Given the description of an element on the screen output the (x, y) to click on. 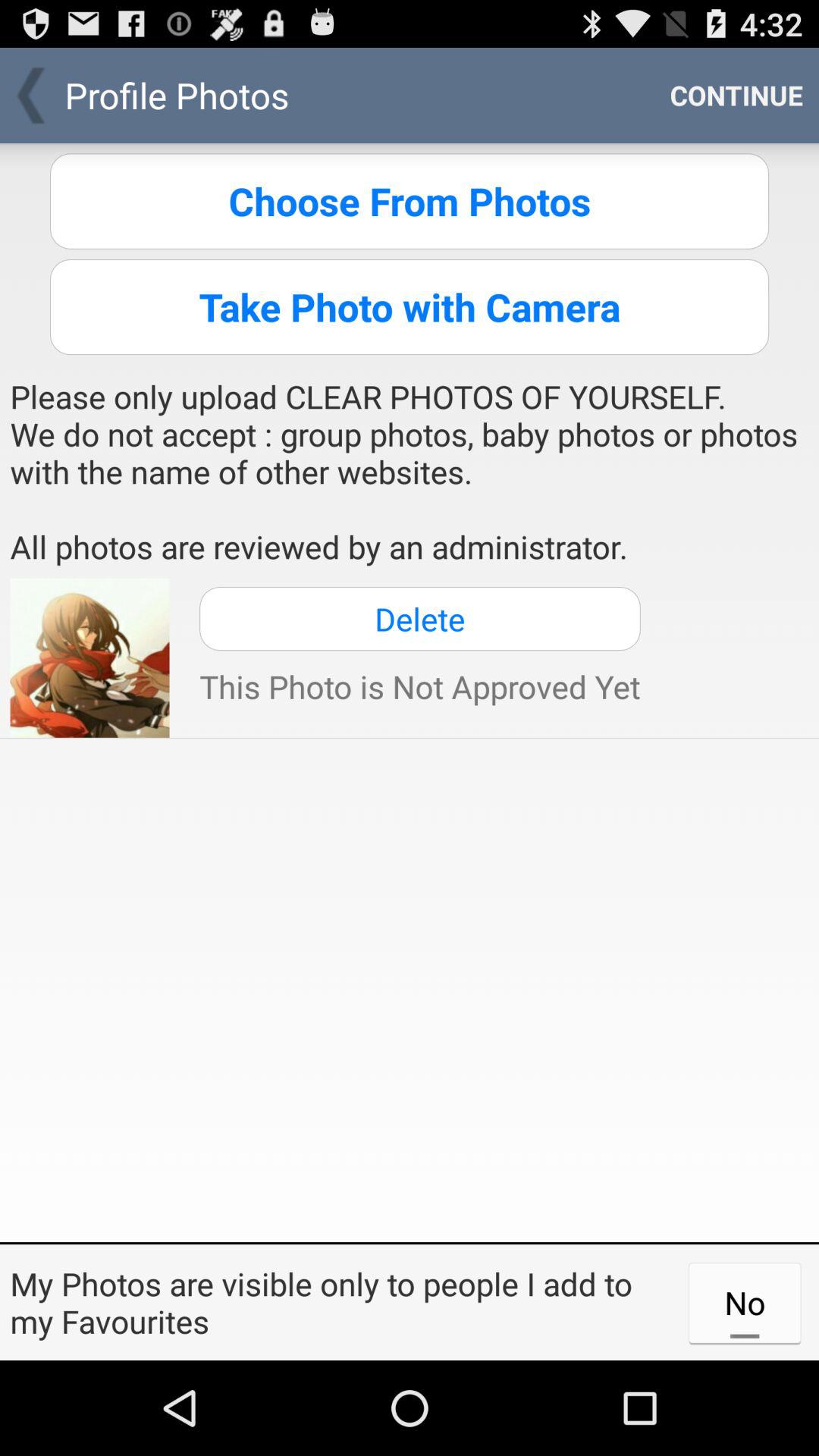
turn on item at the bottom right corner (744, 1302)
